Given the description of an element on the screen output the (x, y) to click on. 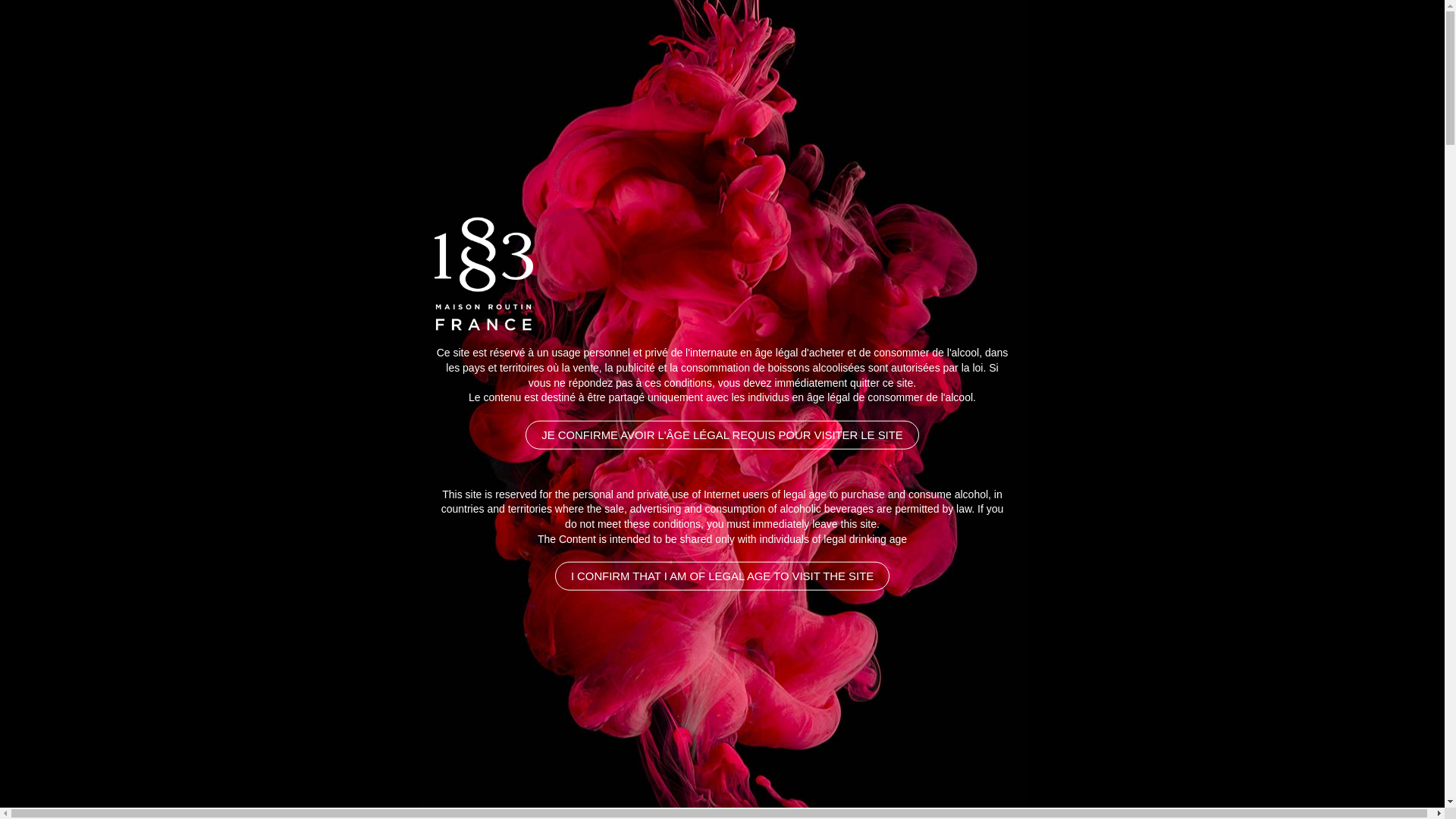
ROUTIN Element type: text (1052, 61)
TENDANCES Element type: text (1155, 61)
EN Element type: text (1239, 60)
LA SIGNATURE 1883 Element type: text (460, 61)
DRINK DESIGN Element type: text (306, 61)
I CONFIRM THAT I AM OF LEGAL AGE TO VISIT THE SITE Element type: text (722, 575)
COLLECTIONS Element type: text (835, 61)
FR Element type: text (1267, 60)
RECETTES Element type: text (956, 61)
